Given the description of an element on the screen output the (x, y) to click on. 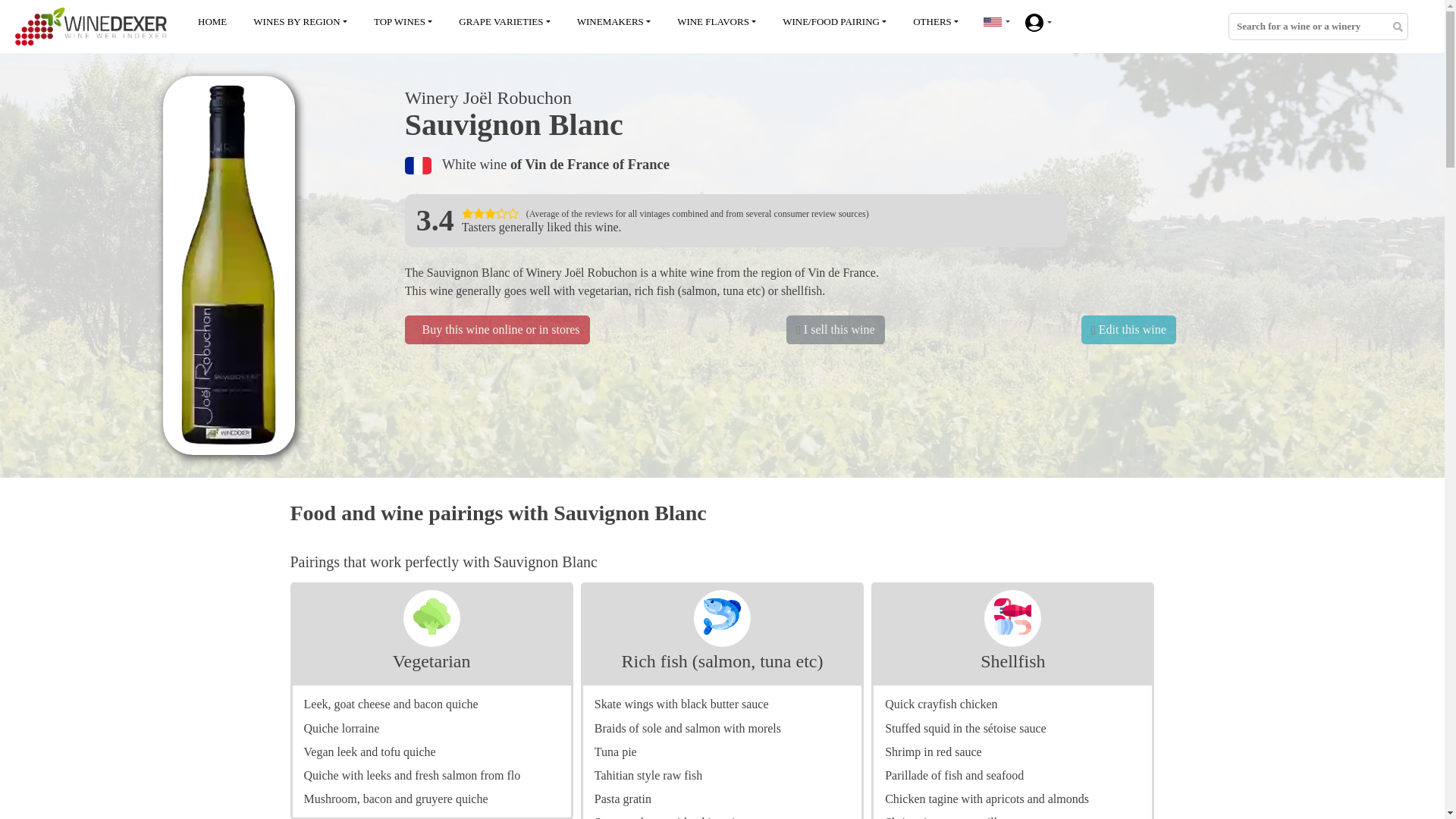
TOP WINES (402, 21)
HOME (212, 21)
Search (1397, 28)
WINES BY REGION (300, 21)
Wine and food pairings with Shellfish (1012, 660)
Wine and food pairings with Vegetarian (431, 660)
